Given the description of an element on the screen output the (x, y) to click on. 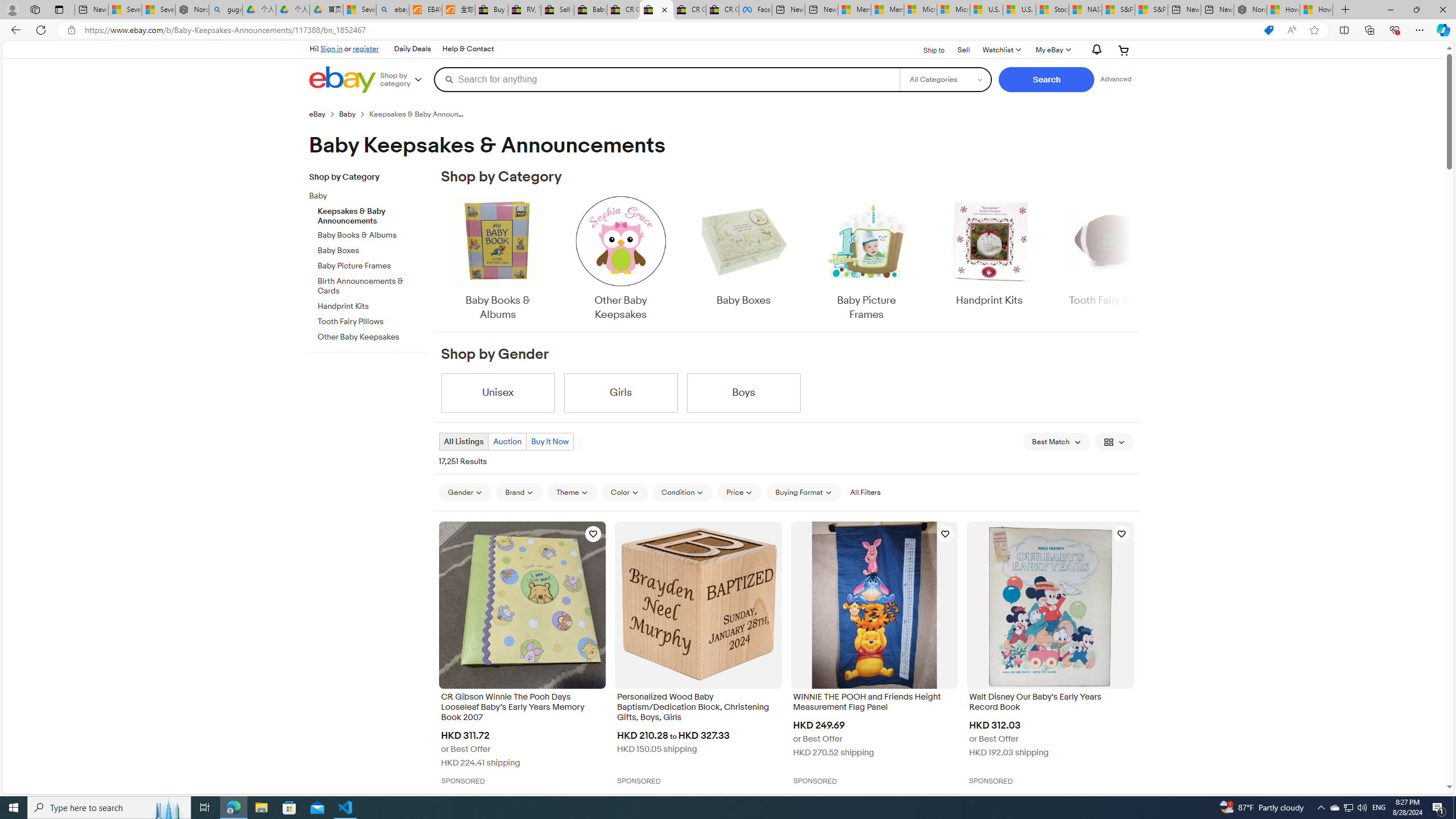
Help & Contact (467, 49)
Brand (519, 492)
Baby Keepsakes & Announcements for sale | eBay (656, 9)
View: Gallery View (1114, 441)
Go to next slide (1131, 258)
Auction (506, 441)
All Listings (463, 441)
Unisex (497, 392)
Workspaces (34, 9)
Read aloud this page (Ctrl+Shift+U) (1291, 29)
Buying Format (803, 492)
Price (739, 492)
Help & Contact (467, 49)
